Given the description of an element on the screen output the (x, y) to click on. 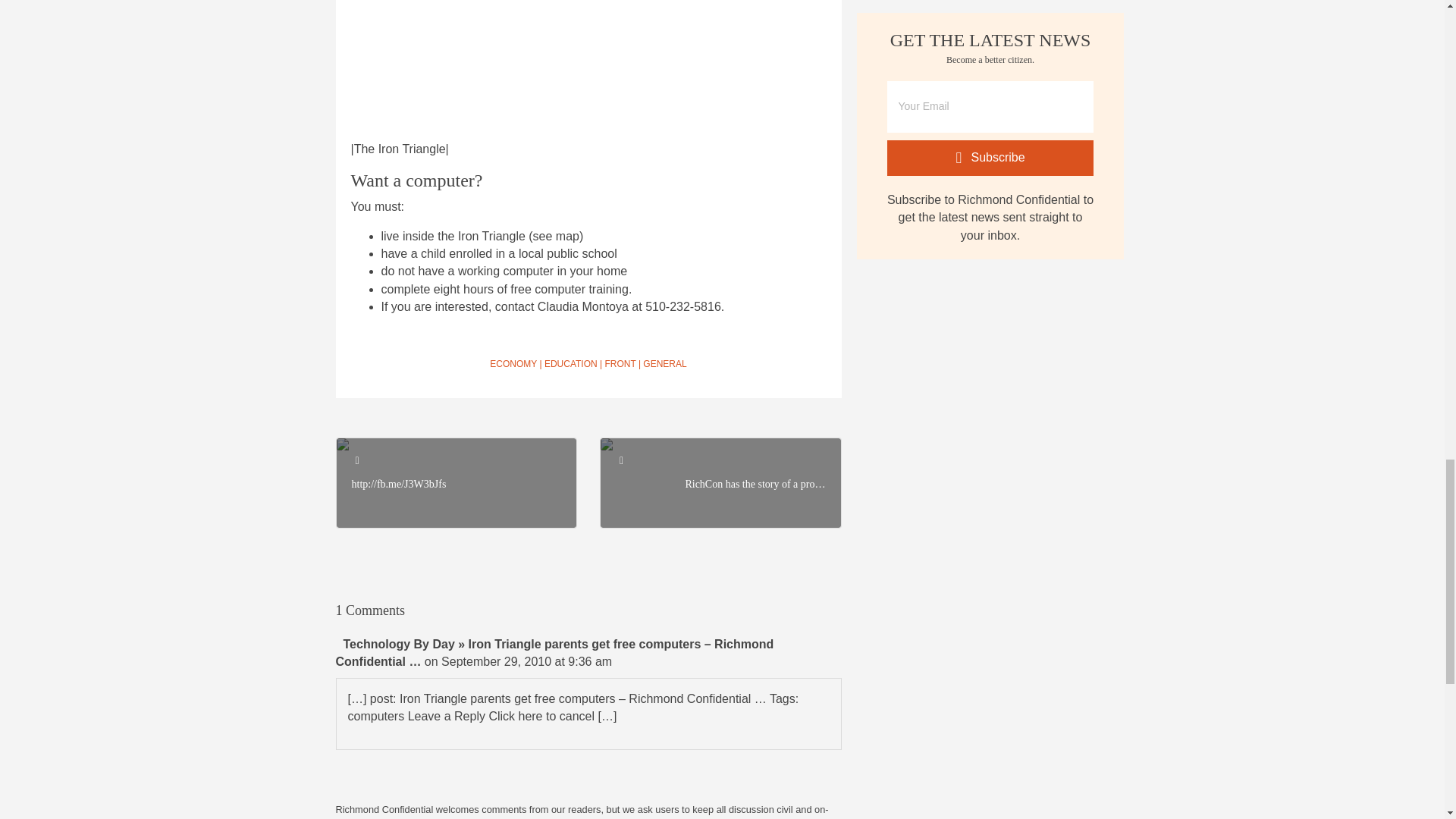
Click Here (990, 158)
Subscribe (990, 158)
GENERAL (664, 363)
ECONOMY (513, 363)
EDUCATION (570, 363)
FRONT (619, 363)
